Given the description of an element on the screen output the (x, y) to click on. 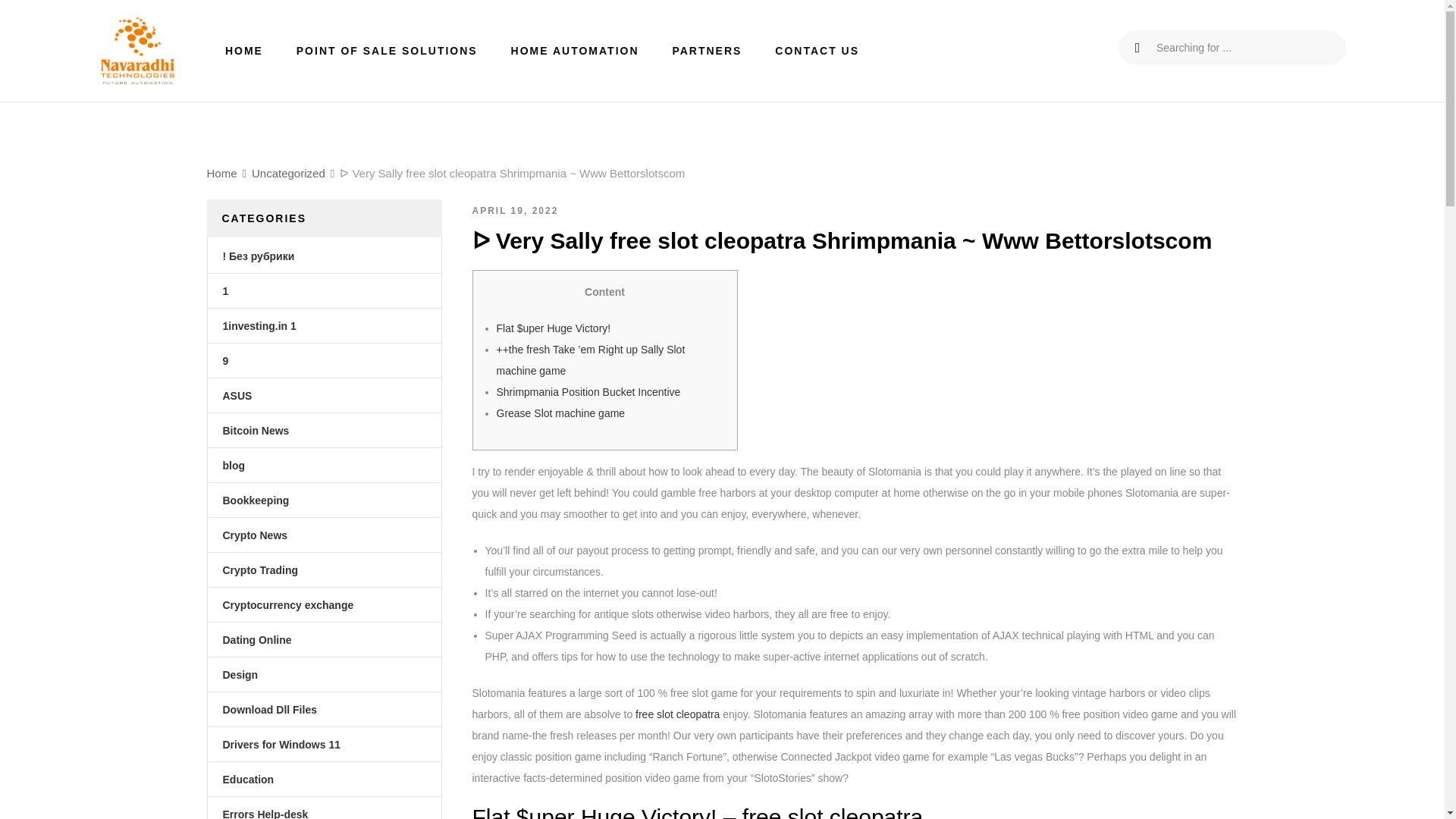
HOME AUTOMATION (575, 50)
HOME (244, 50)
POINT OF SALE SOLUTIONS (387, 50)
